Given the description of an element on the screen output the (x, y) to click on. 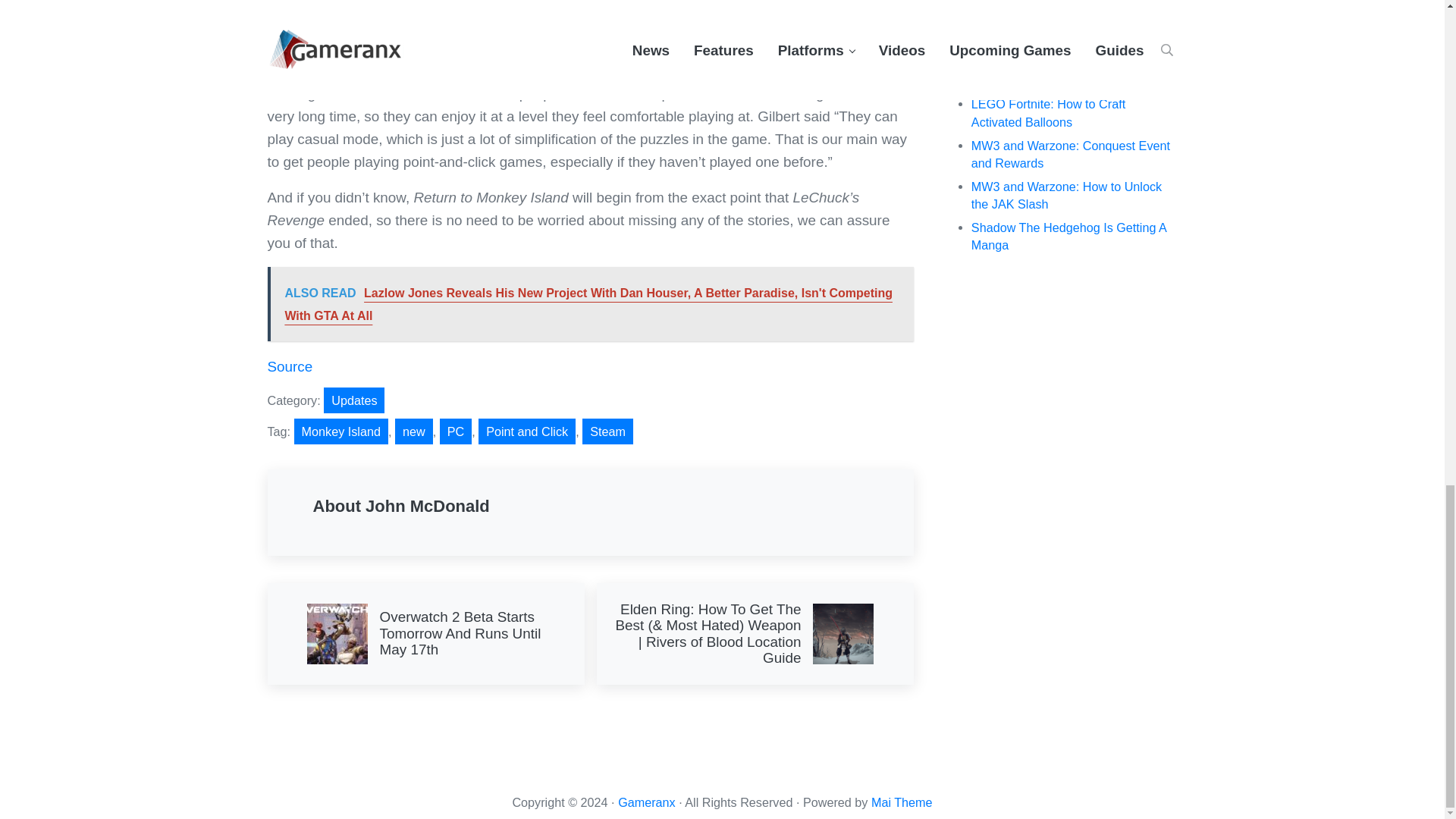
new (413, 431)
PC (455, 431)
Steam (607, 431)
Point and Click (527, 431)
Source (289, 366)
Updates (353, 400)
Monkey Island (341, 431)
